Given the description of an element on the screen output the (x, y) to click on. 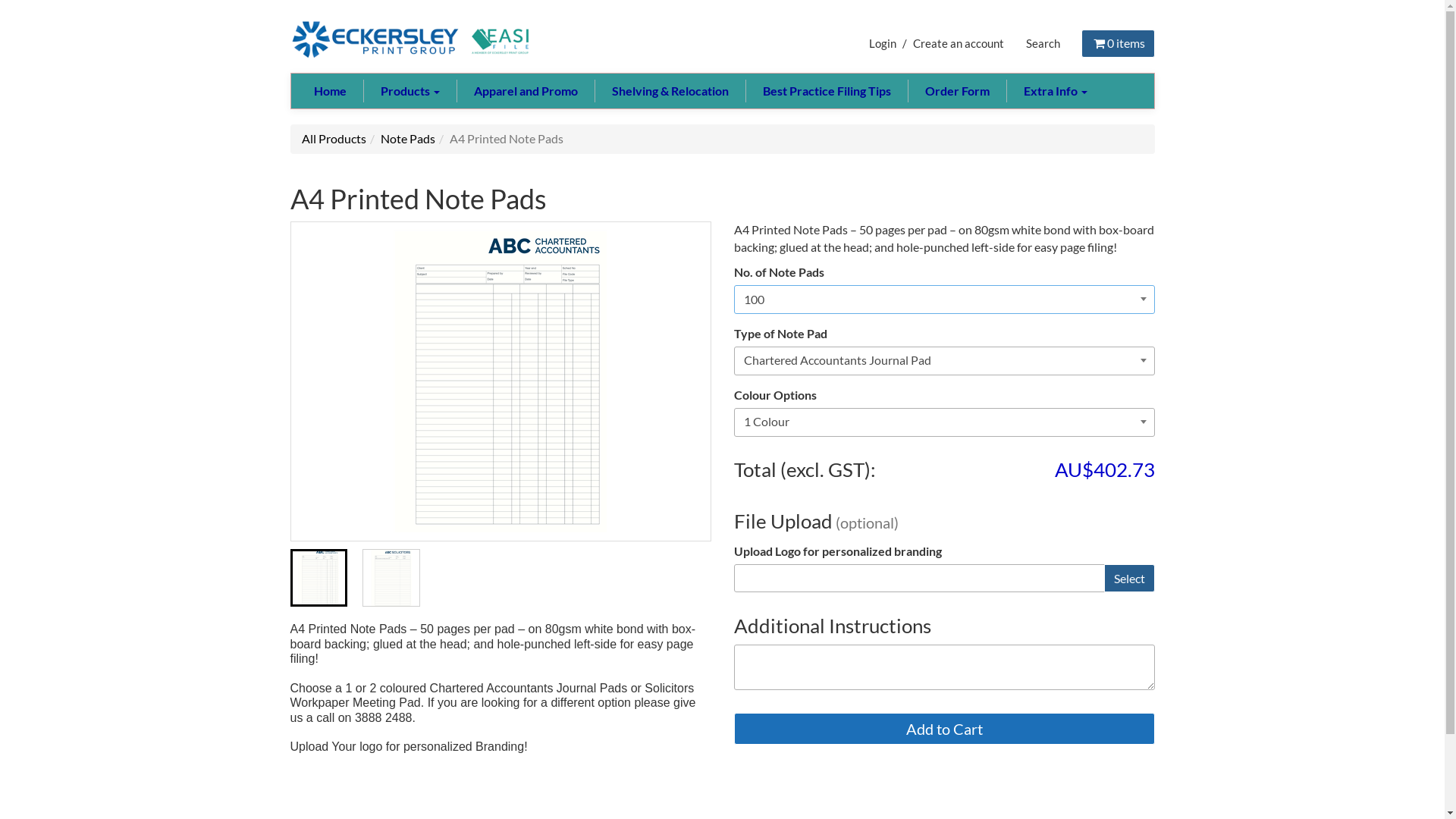
Easi-file Element type: hover (410, 39)
All Products Element type: text (333, 138)
Home Element type: text (330, 90)
A4 Printed Note Pads  Element type: hover (500, 381)
Add to Cart Element type: text (944, 728)
Note Pads Element type: text (407, 138)
Order Form Element type: text (955, 90)
Products Element type: text (408, 90)
Login Element type: text (882, 43)
Create an account Element type: text (958, 43)
Search Element type: text (1042, 43)
0 items Element type: text (1117, 43)
Extra Info Element type: text (1054, 90)
Shelving & Relocation Element type: text (669, 90)
Best Practice Filing Tips Element type: text (825, 90)
Apparel and Promo Element type: text (525, 90)
